Given the description of an element on the screen output the (x, y) to click on. 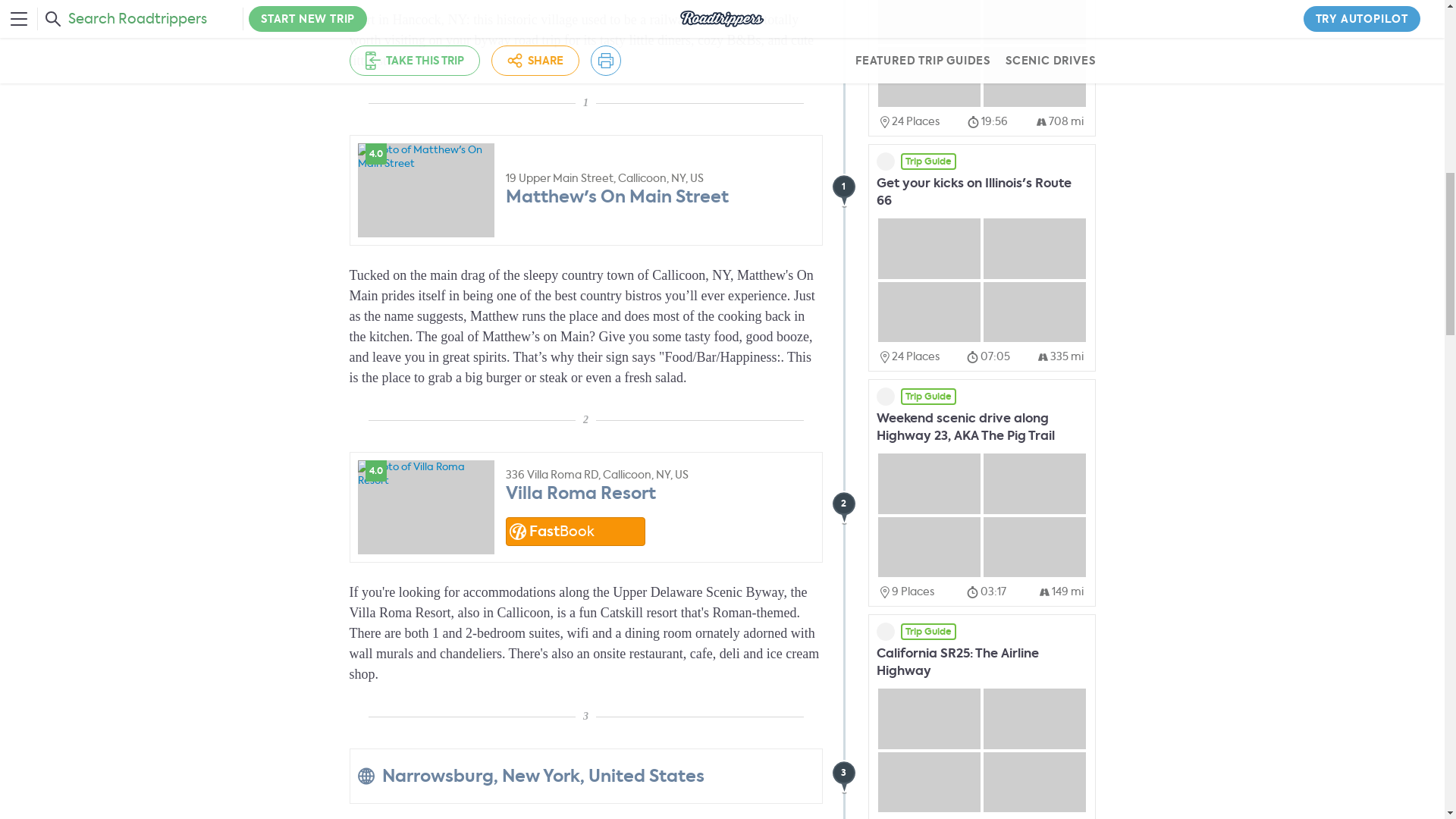
Weekend scenic drive along Highway 23, AKA The Pig Trail (965, 426)
Get your kicks on Illinois's Route 66 (973, 191)
FastBook (575, 531)
Villa Roma Resort (580, 492)
Matthew's On Main Street (616, 196)
